Given the description of an element on the screen output the (x, y) to click on. 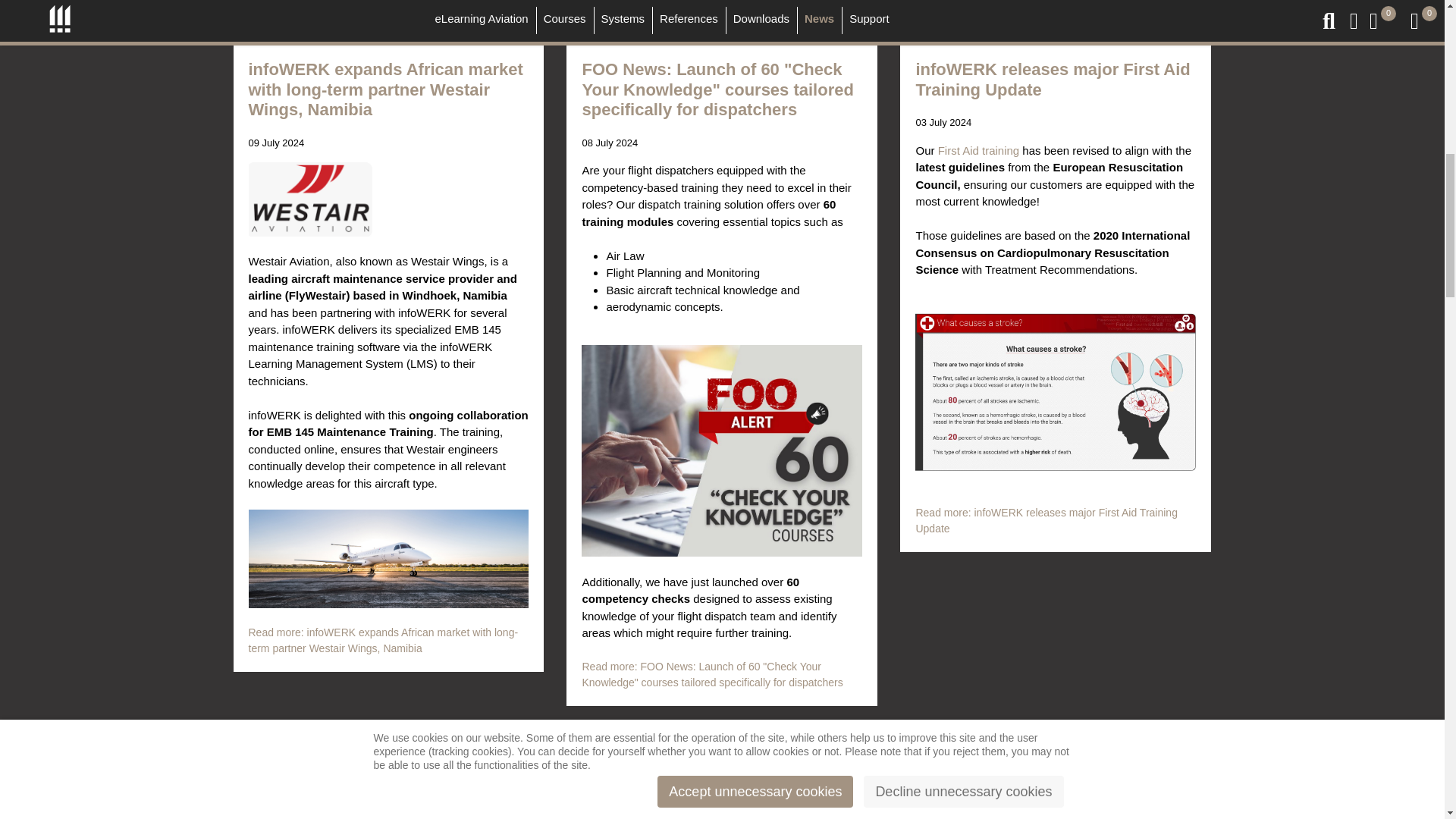
7 (397, 742)
5 (346, 742)
Published: 09 July 2024 (276, 142)
6 (372, 742)
3 (295, 742)
4 (321, 742)
2 (271, 742)
Published: 03 July 2024 (943, 122)
Published: 08 July 2024 (608, 142)
